Given the description of an element on the screen output the (x, y) to click on. 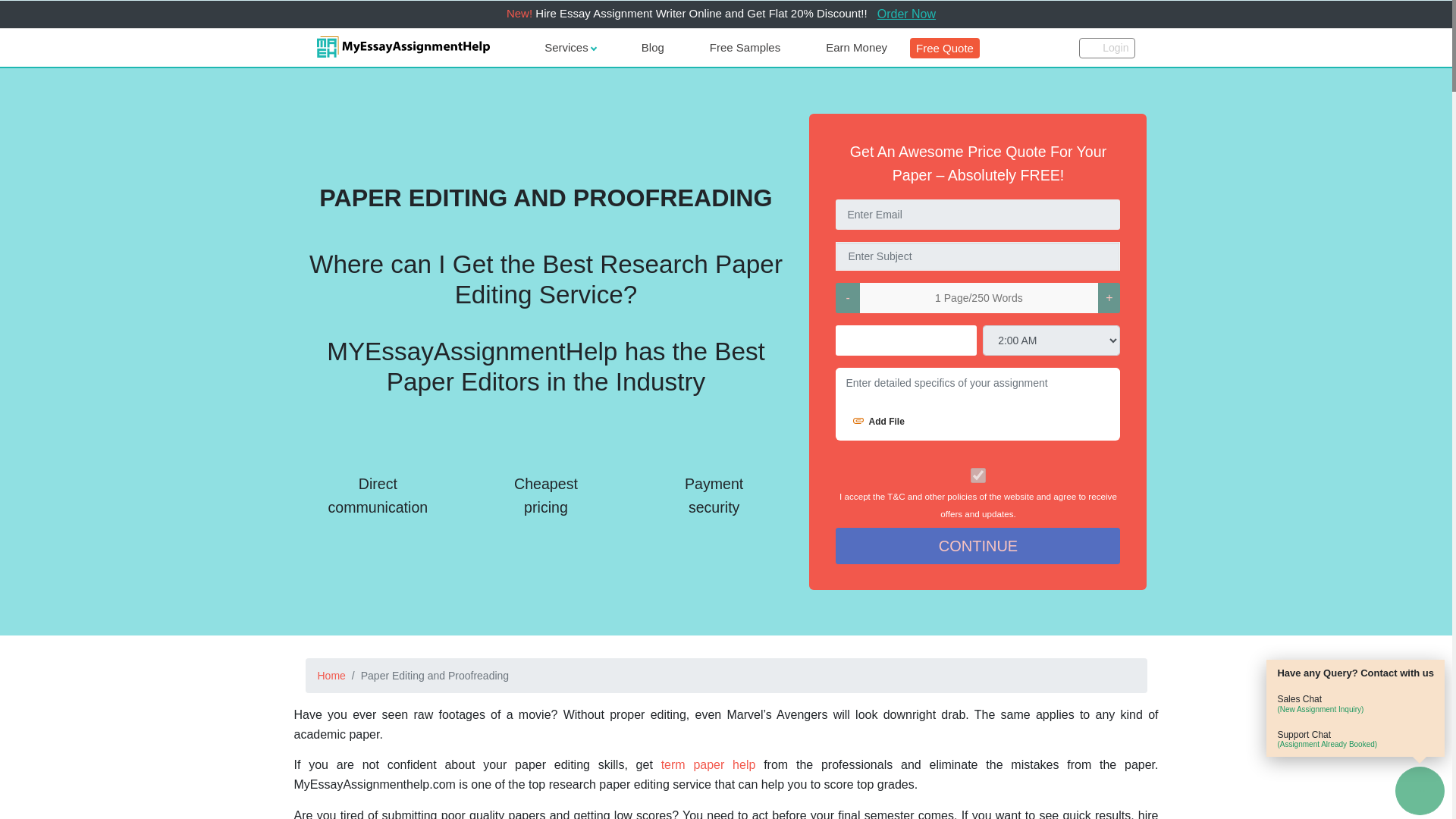
Order Now (905, 14)
1 (978, 475)
Services (569, 47)
